Given the description of an element on the screen output the (x, y) to click on. 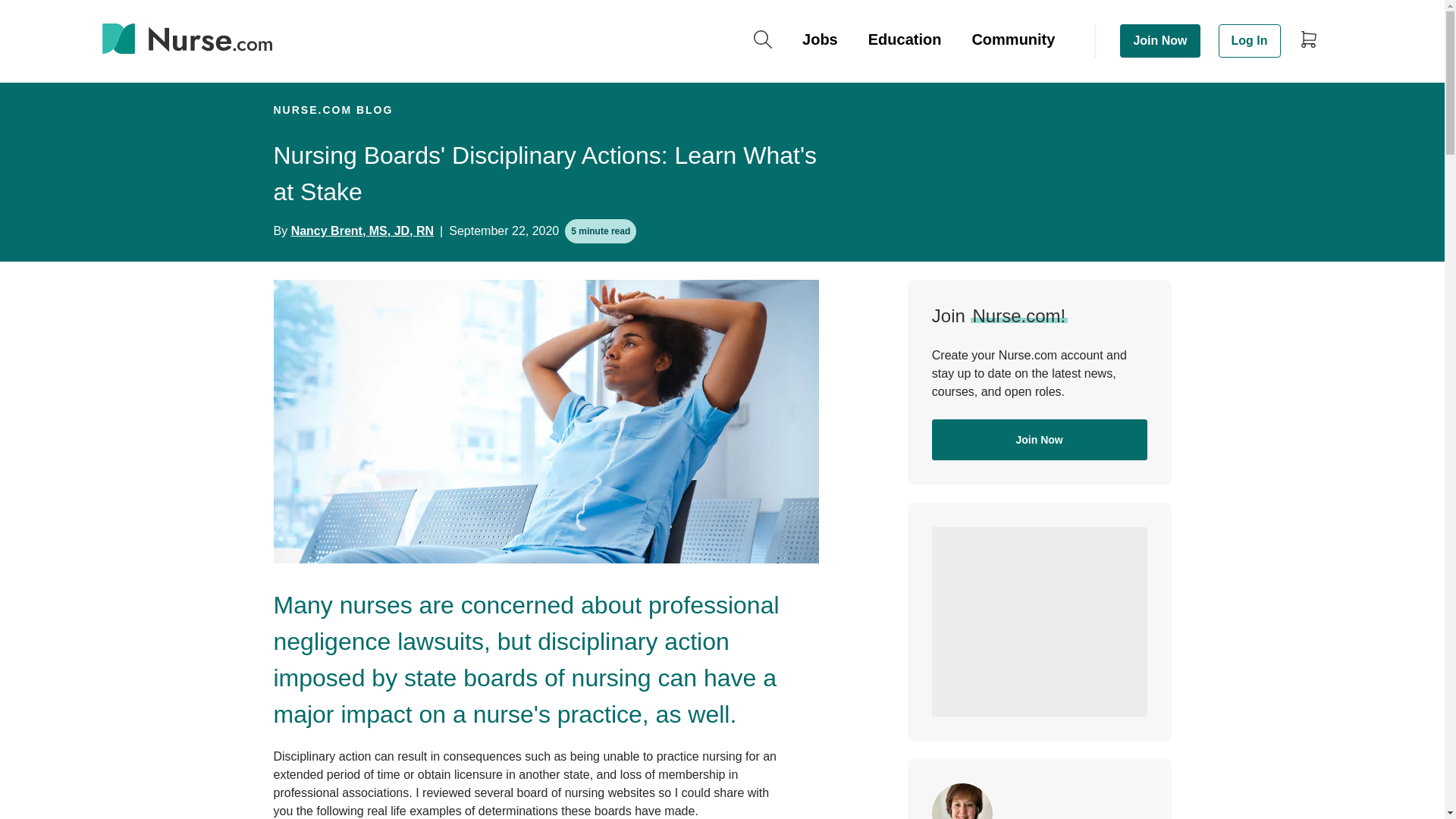
Jobs (820, 40)
3rd party ad content (1039, 621)
Home (187, 40)
Education (904, 40)
